Given the description of an element on the screen output the (x, y) to click on. 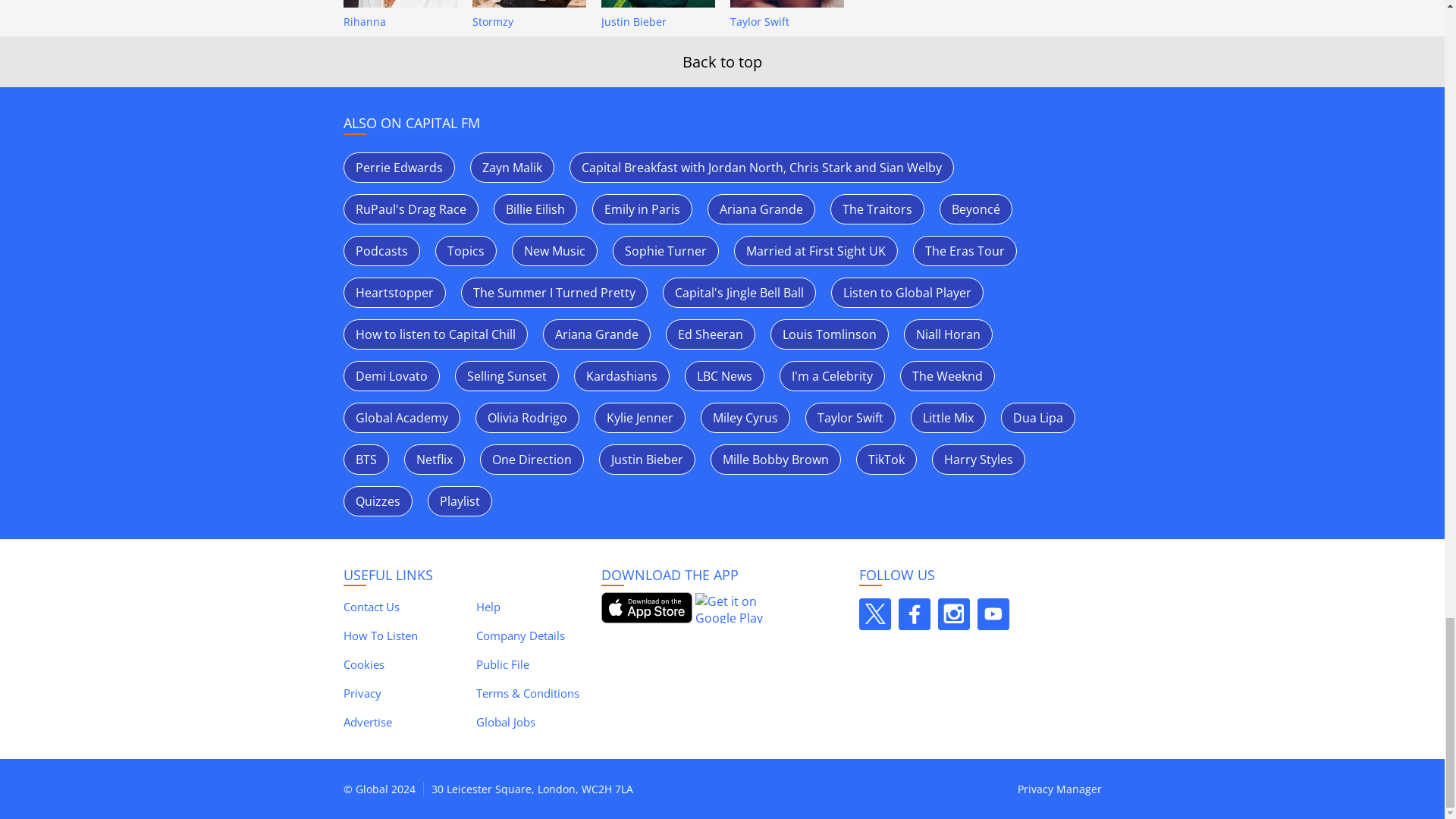
Follow Capital on Facebook (914, 613)
Follow Capital on Youtube (992, 613)
Back to top (721, 61)
Follow Capital on X (874, 613)
Follow Capital on Instagram (953, 613)
